Given the description of an element on the screen output the (x, y) to click on. 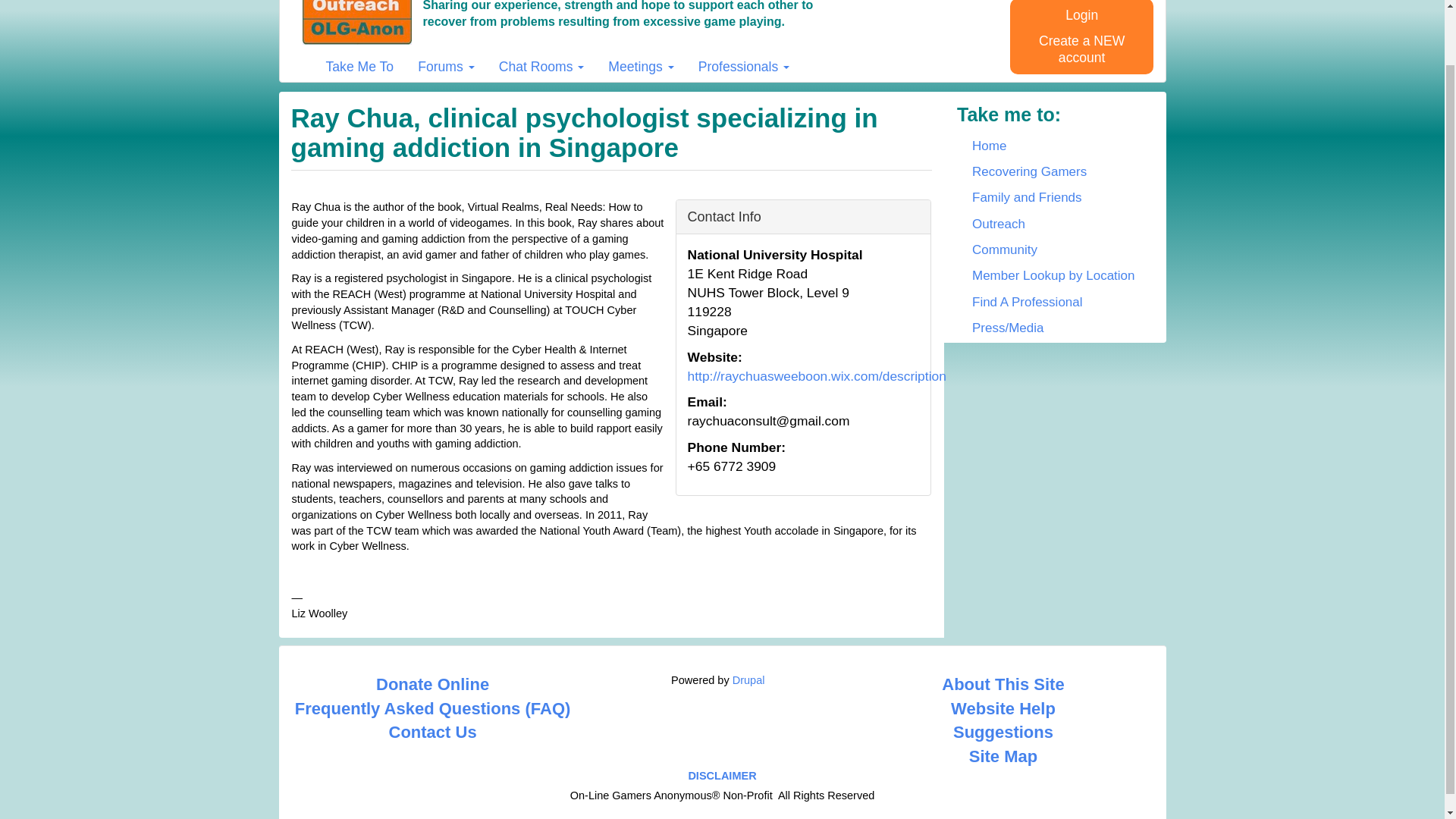
Recovering Gamers (1054, 171)
Outreach (1054, 224)
Login (1081, 14)
Home (361, 22)
Professionals (743, 66)
Home (1054, 145)
Meetings (640, 66)
You must be logged into the website to go to the chat rooms. (542, 66)
Take Me To (359, 66)
Create a NEW account (1081, 48)
Member Lookup by Location (1054, 275)
Chat Rooms (542, 66)
Community (1054, 249)
Forums (445, 66)
Find A Professional (1054, 302)
